Given the description of an element on the screen output the (x, y) to click on. 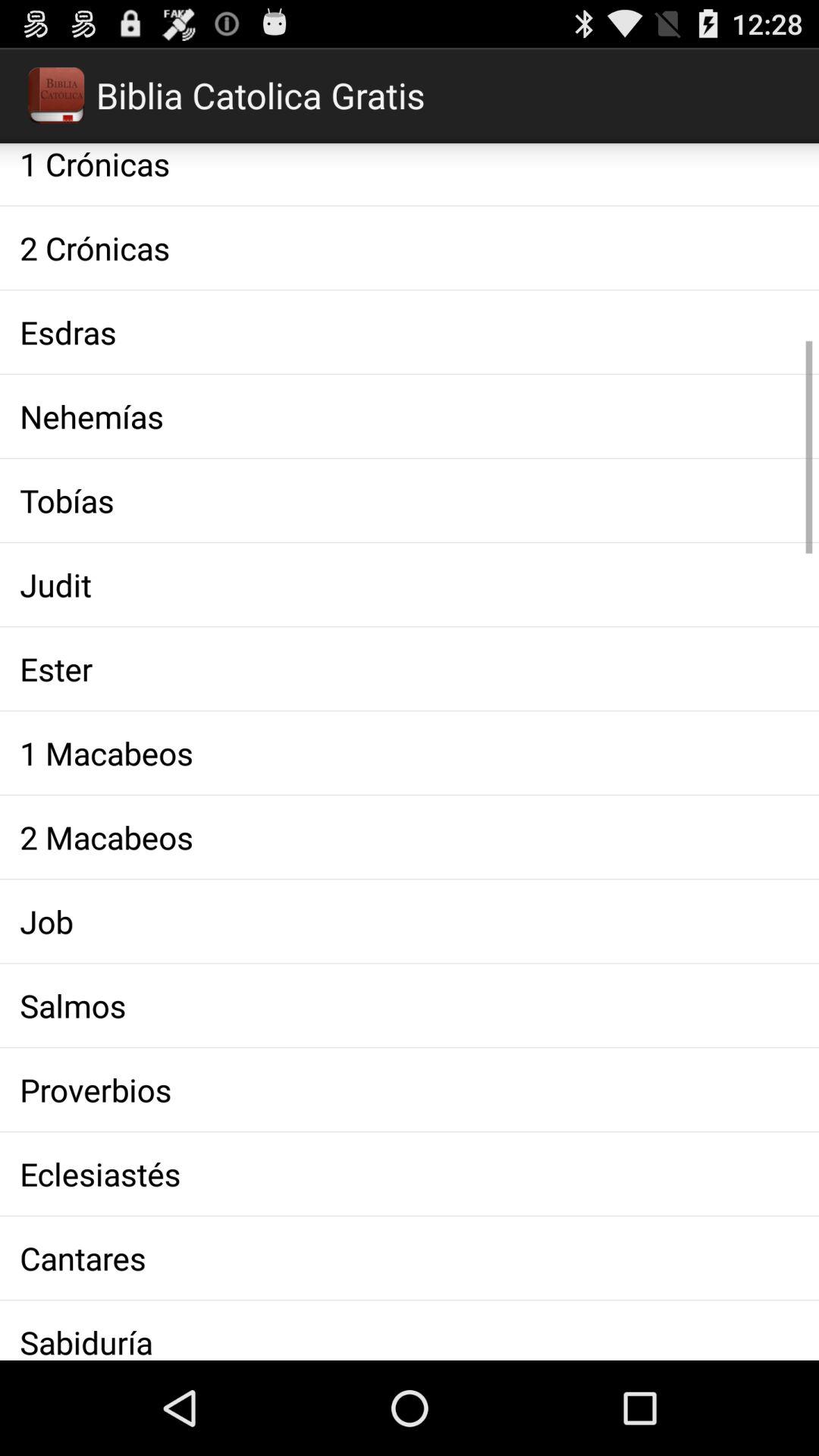
turn on the esdras icon (409, 331)
